Given the description of an element on the screen output the (x, y) to click on. 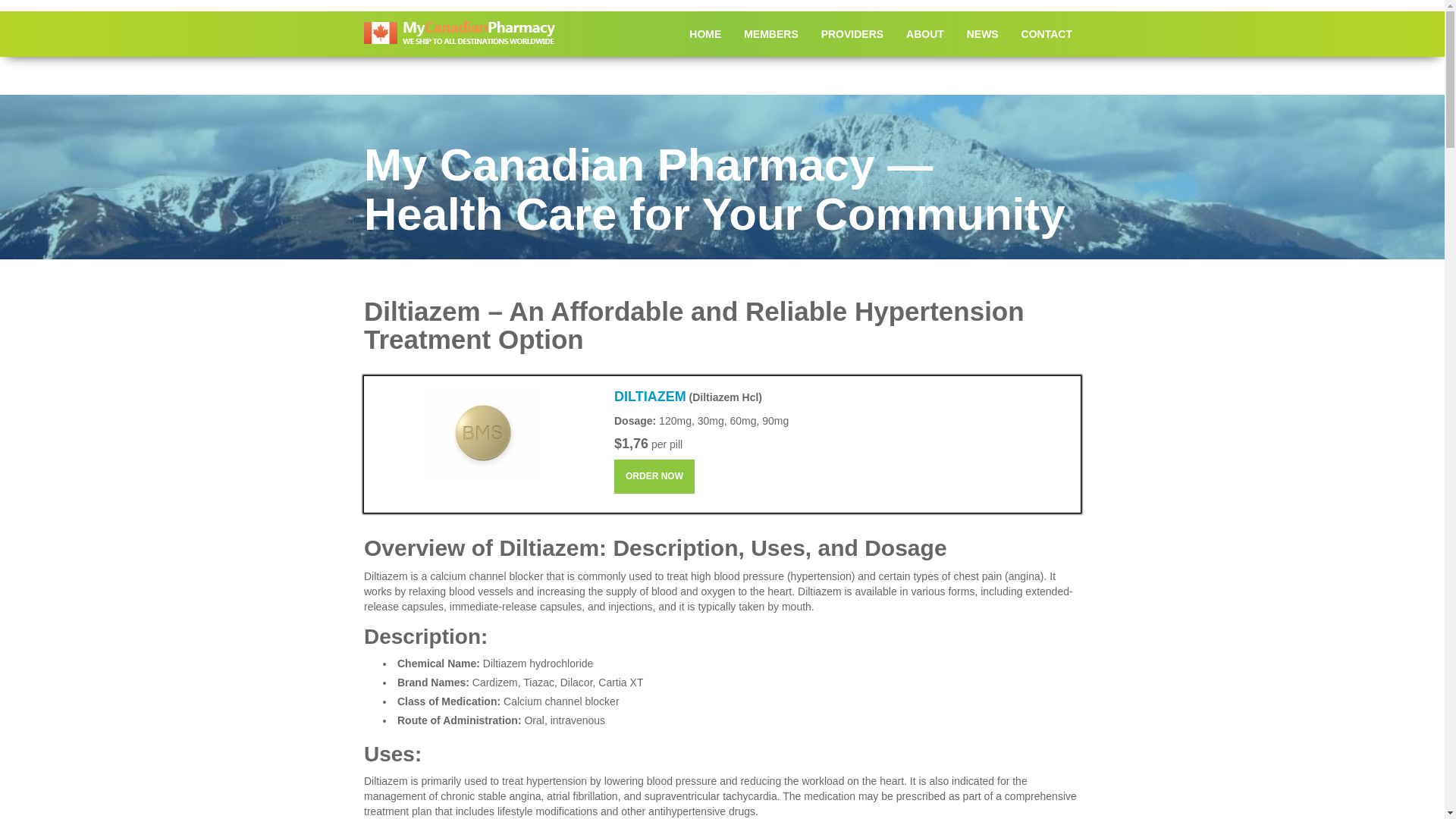
ORDER NOW (654, 476)
PROVIDERS (852, 33)
MEMBERS (770, 33)
NEWS (982, 33)
ABOUT (925, 33)
HOME (705, 33)
CONTACT (1046, 33)
